Given the description of an element on the screen output the (x, y) to click on. 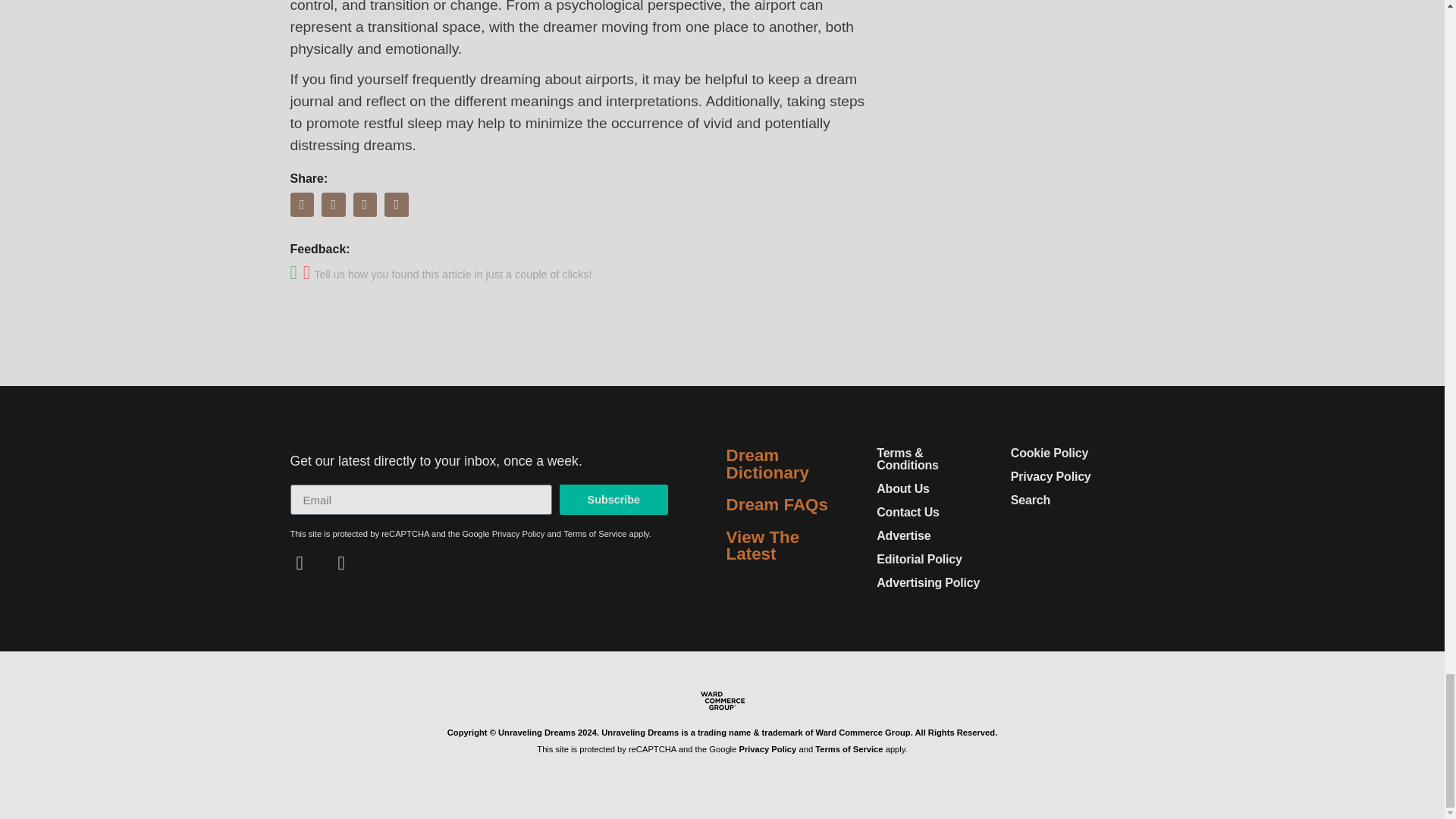
Editorial Policy (918, 558)
About Us (903, 488)
Privacy Policy (518, 533)
View The Latest (762, 545)
Contact Us (907, 512)
Subscribe (612, 499)
Dream FAQs (777, 504)
Terms of Service (594, 533)
Advertise (903, 535)
Dream Dictionary (767, 463)
